Given the description of an element on the screen output the (x, y) to click on. 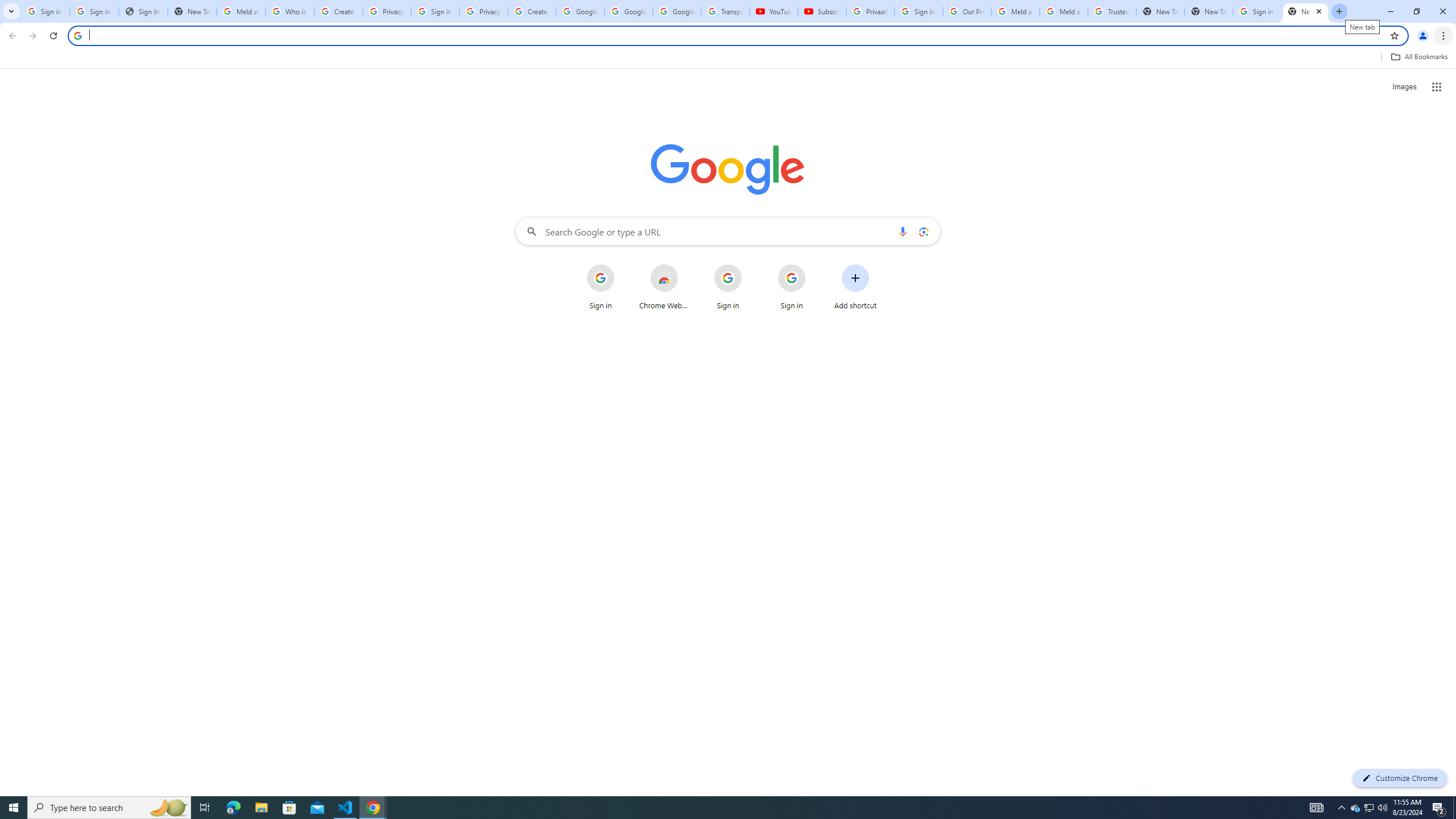
More actions for Sign in shortcut (814, 265)
